Given the description of an element on the screen output the (x, y) to click on. 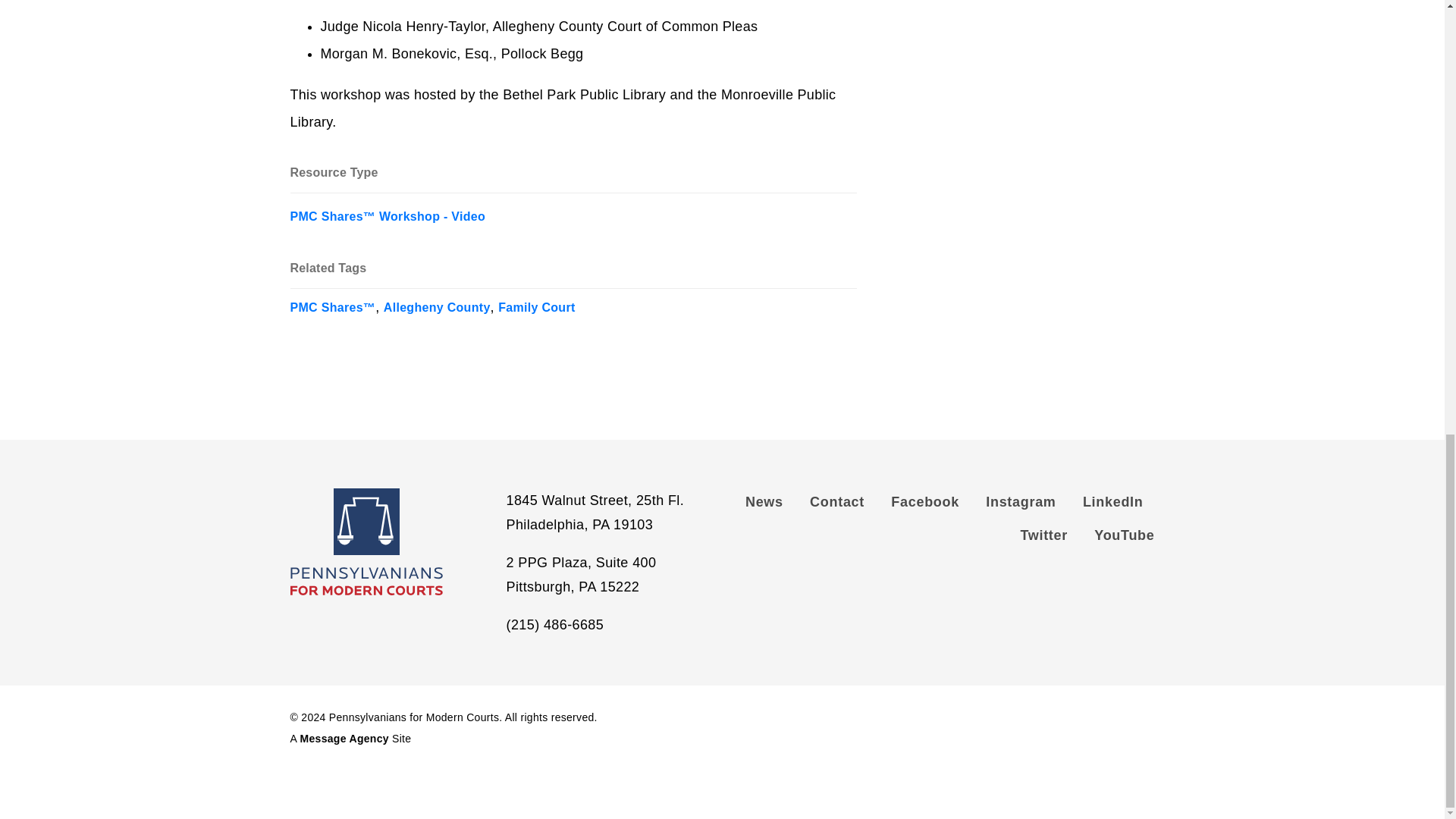
Allegheny County (437, 301)
News (769, 505)
Family Court (536, 301)
Facebook (925, 505)
Message Agency (343, 738)
Contact (836, 505)
Instagram (1020, 505)
LinkedIn (1112, 505)
Twitter (1043, 539)
